Given the description of an element on the screen output the (x, y) to click on. 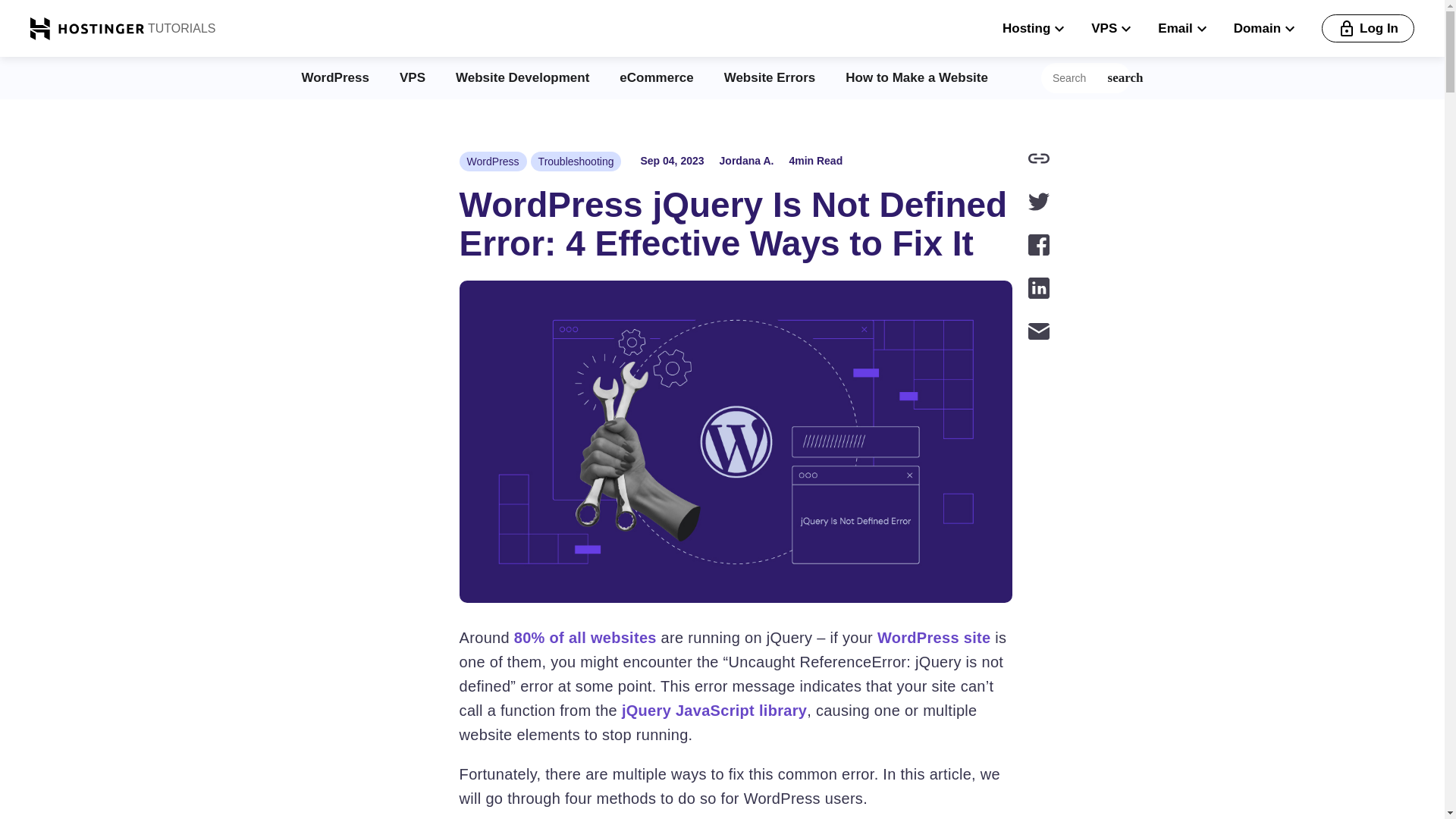
WordPress (335, 77)
Website Errors (769, 77)
Troubleshooting (576, 161)
Website Development (522, 77)
WordPress site (933, 637)
TUTORIALS (179, 28)
How to Make a Website (916, 77)
Log In (1367, 28)
WordPress (493, 161)
jQuery JavaScript library (713, 710)
